Given the description of an element on the screen output the (x, y) to click on. 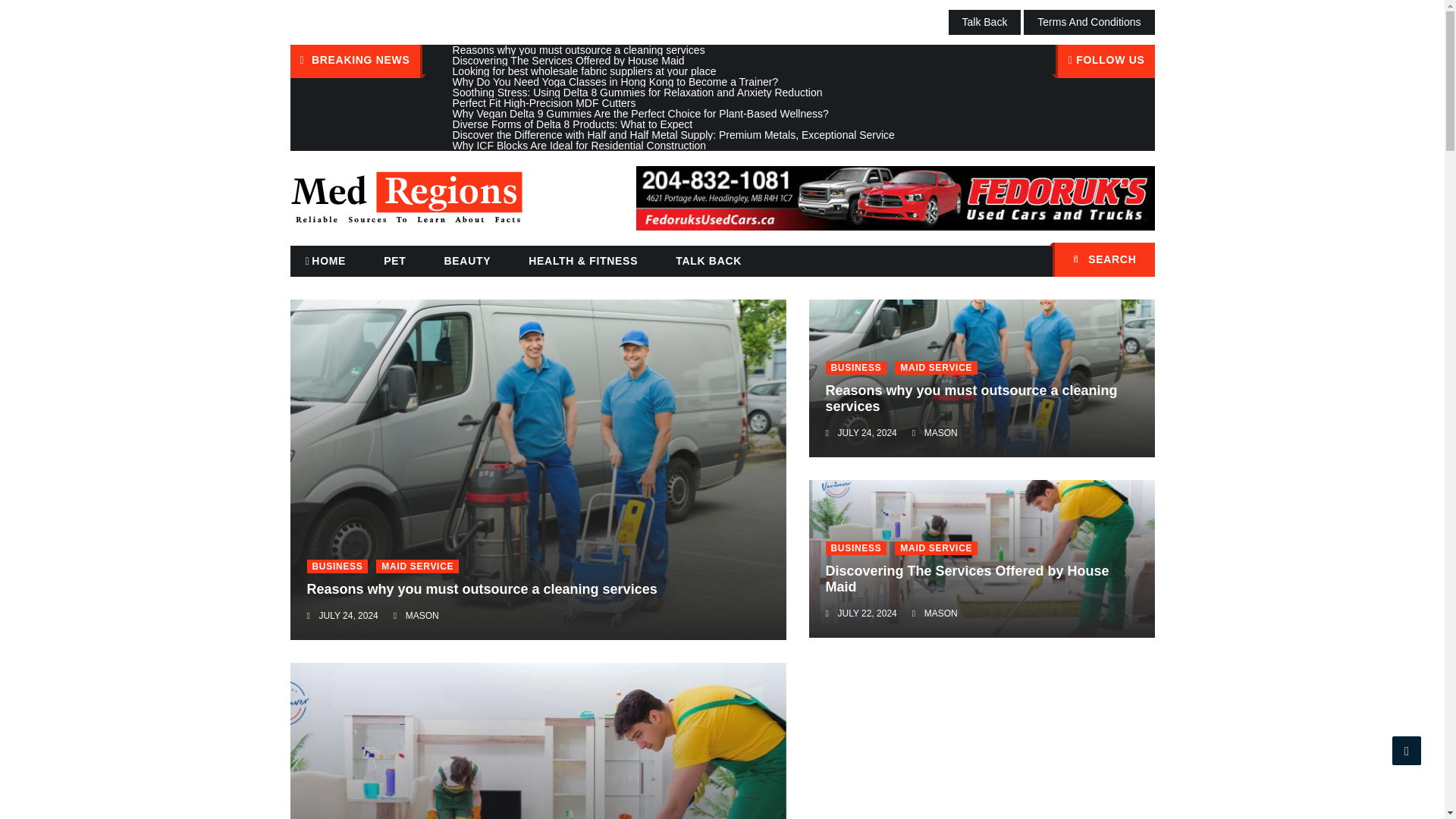
Discovering The Services Offered by House Maid (966, 579)
MASON (941, 613)
MASON (941, 432)
Terms And Conditions (1088, 22)
JULY 22, 2024 (866, 613)
FOLLOW US (1104, 61)
JULY 24, 2024 (866, 432)
BUSINESS (855, 367)
Search (1135, 260)
JULY 24, 2024 (347, 615)
